Given the description of an element on the screen output the (x, y) to click on. 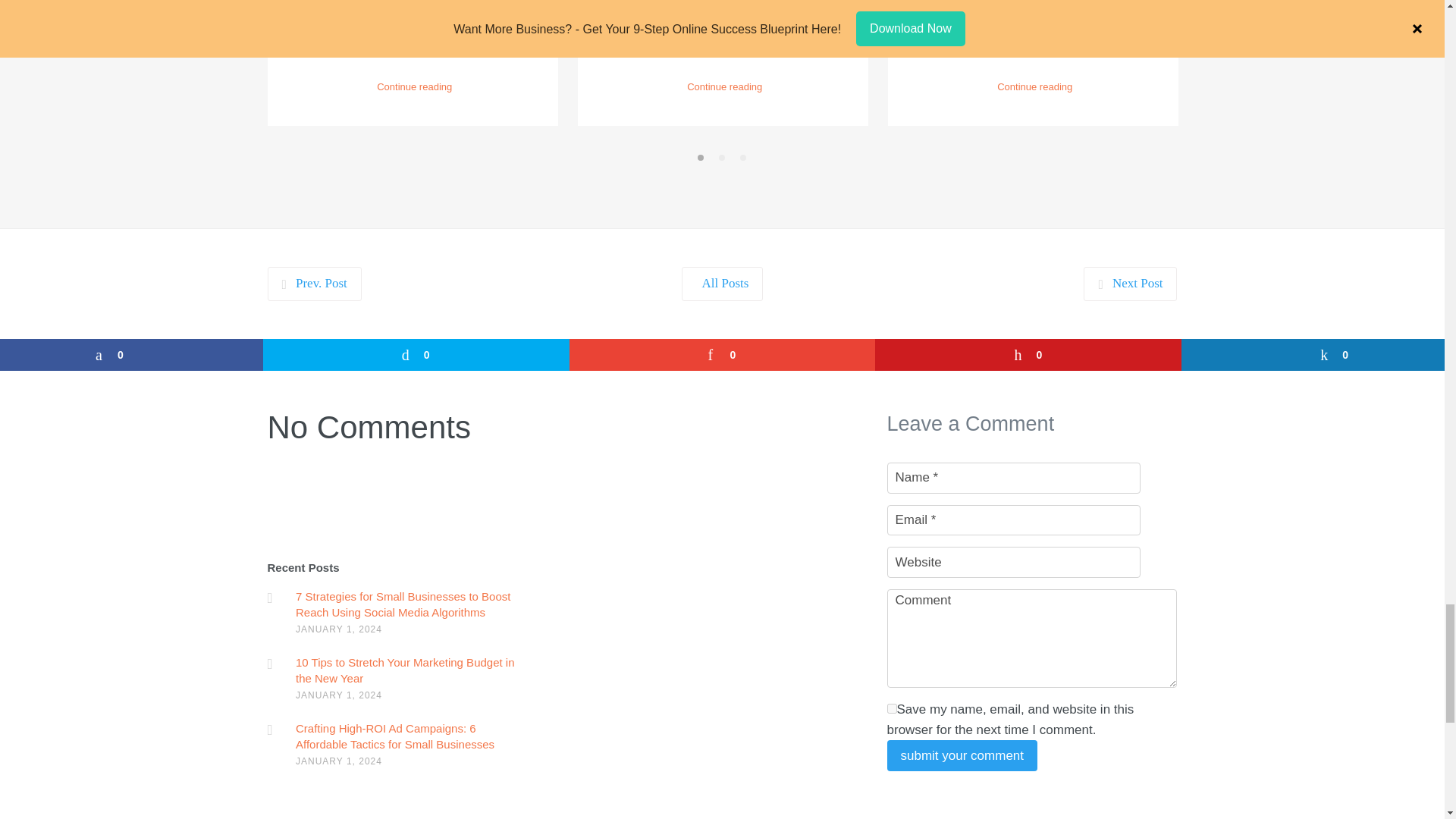
yes (891, 708)
SUBMIT YOUR COMMENT (962, 755)
